Given the description of an element on the screen output the (x, y) to click on. 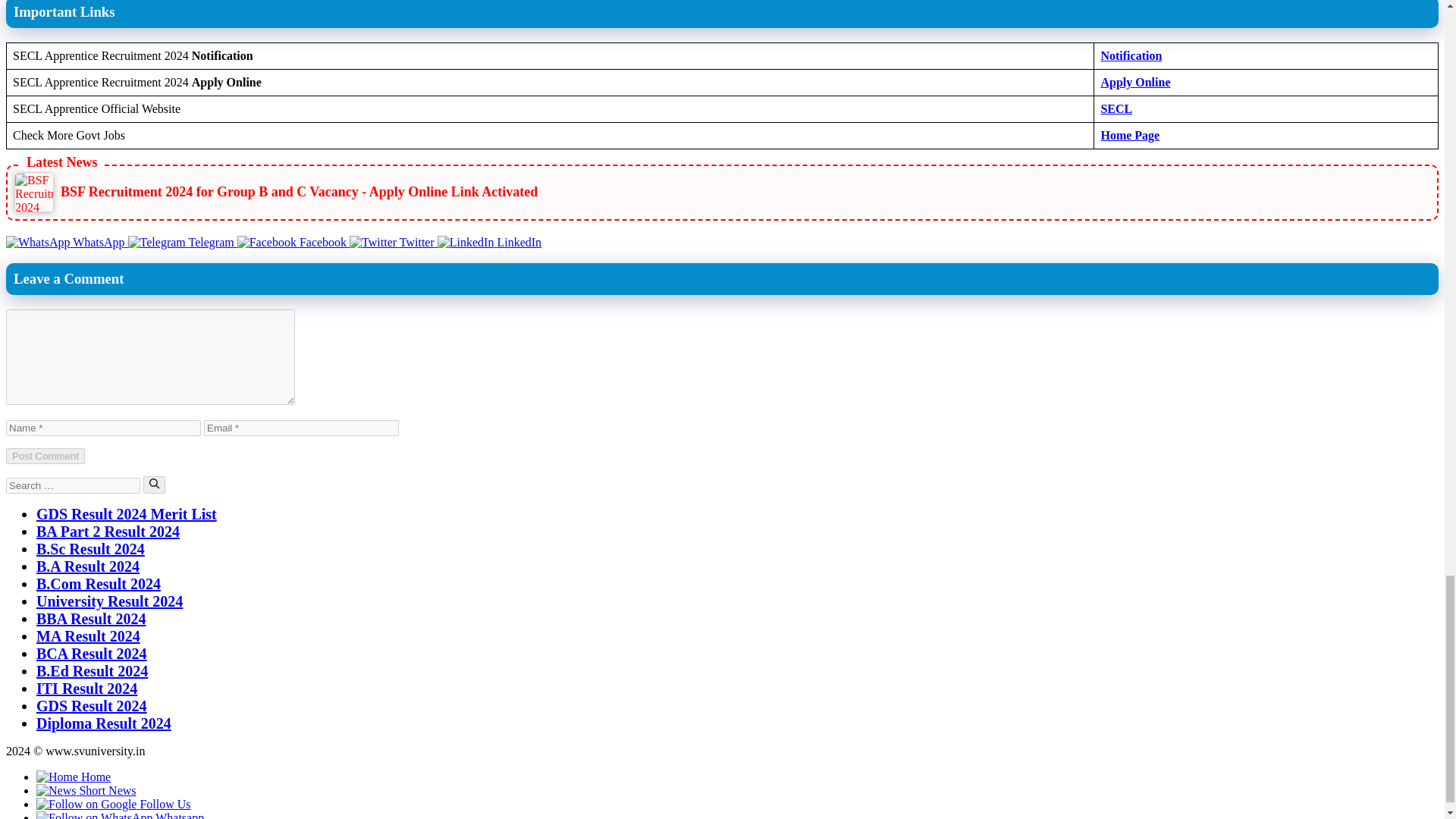
GDS Result 2024 Merit List (126, 514)
Apply Online (1135, 82)
Telegram (182, 241)
Search for: (72, 485)
Home Page (1129, 134)
Post Comment (44, 455)
WhatsApp (66, 241)
LinkedIn (489, 241)
SECL (1116, 108)
